Given the description of an element on the screen output the (x, y) to click on. 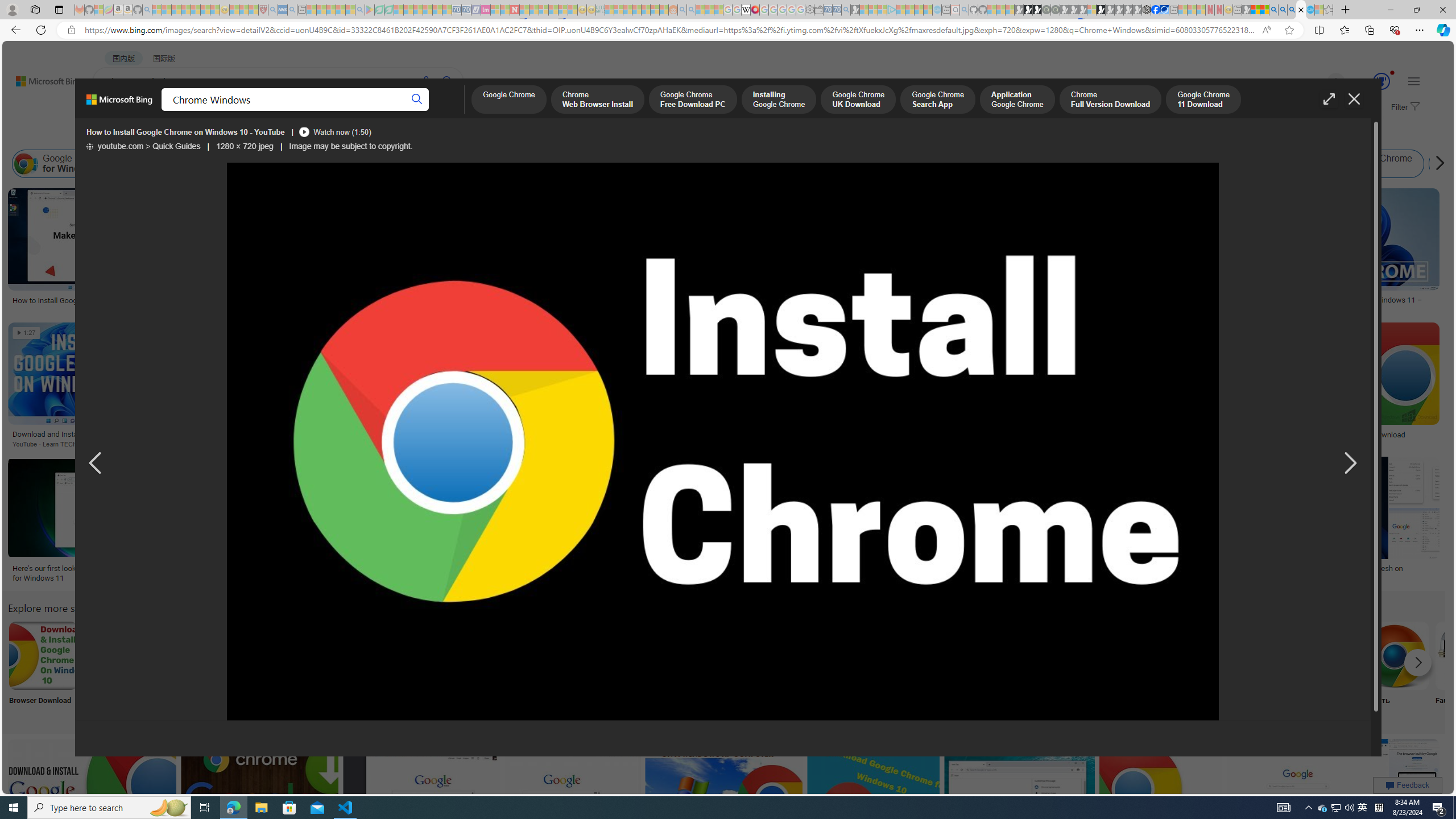
Microsoft Bing, Back to Bing search (118, 104)
Chrome Color PNG (644, 654)
Recipes - MSN - Sleeping (234, 9)
Nordace | Facebook (1154, 9)
Install Google Chrome Browser (843, 163)
1:27 (26, 332)
MORE (451, 111)
Cheap Car Rentals - Save70.com - Sleeping (836, 9)
Animation (1392, 72)
youtube.com>Quick Guides (142, 146)
Services - Maintenance | Sky Blue Bikes - Sky Blue Bikes (1309, 9)
Chrome Icon.png (493, 654)
Install chrome for windows 10 - radicallio (1178, 434)
Settings - Sleeping (809, 9)
